Given the description of an element on the screen output the (x, y) to click on. 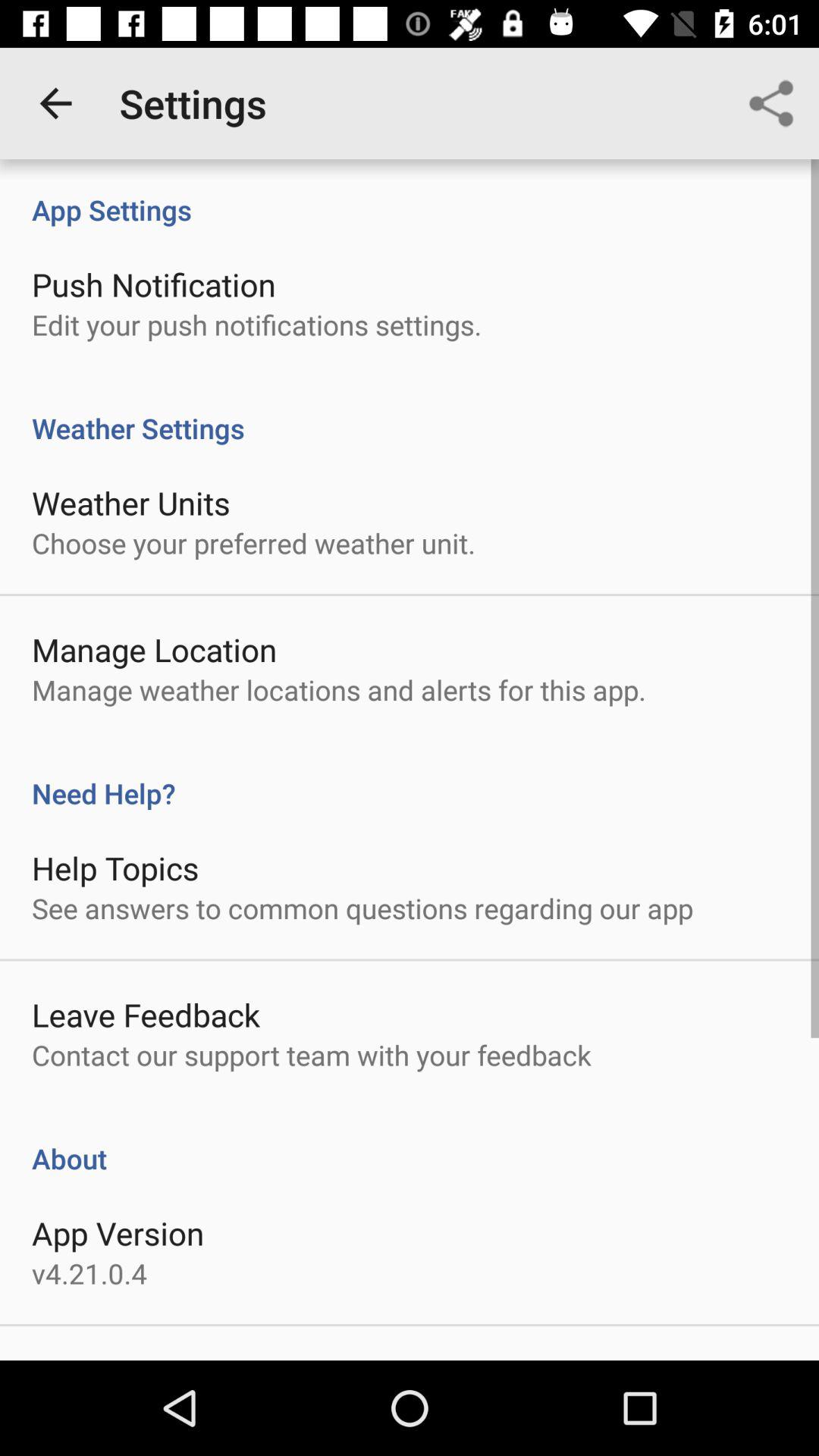
press the choose your preferred item (253, 542)
